Given the description of an element on the screen output the (x, y) to click on. 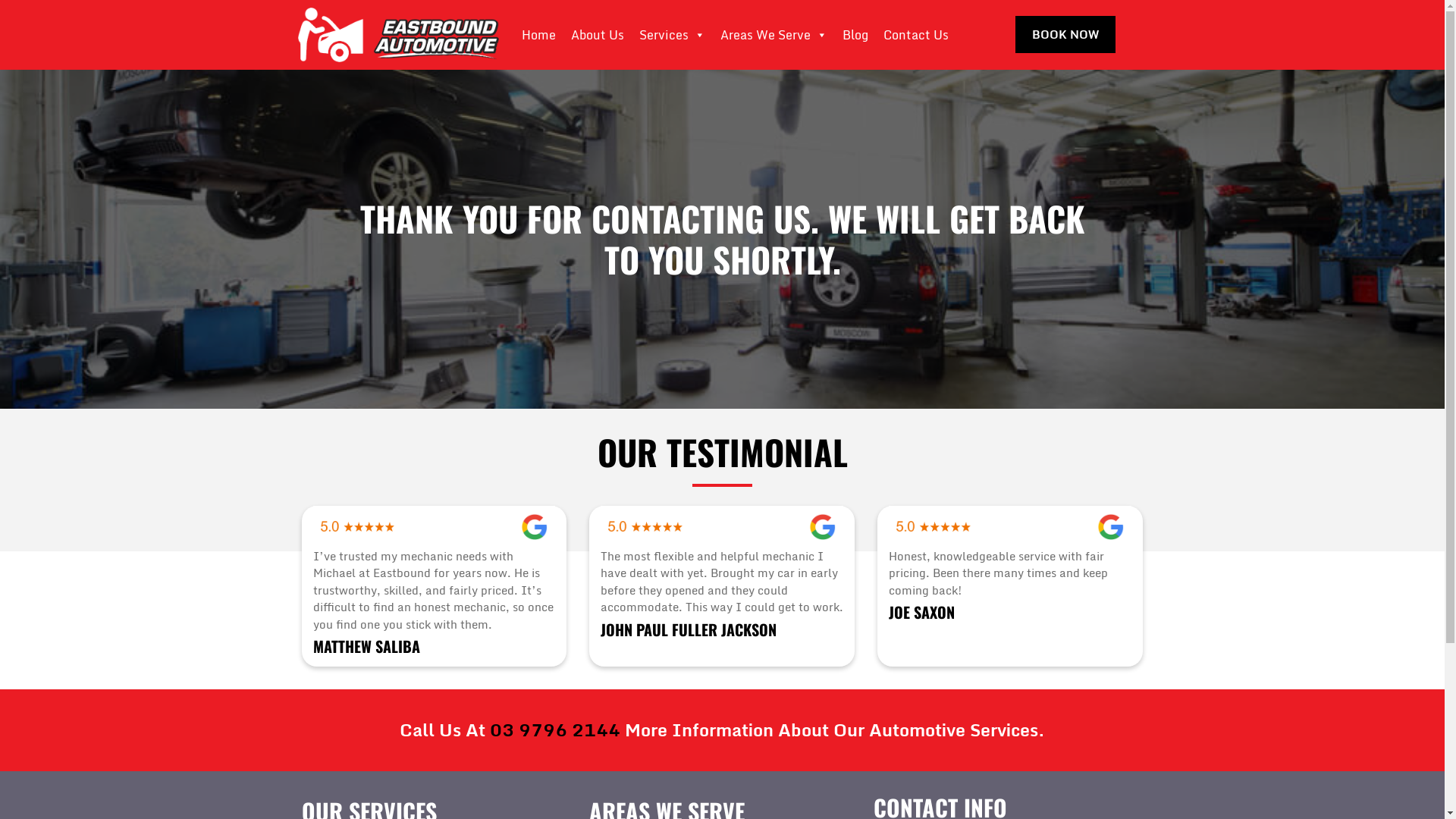
Home Element type: text (538, 34)
About Us Element type: text (596, 34)
Contact Us Element type: text (915, 34)
review-star Element type: hover (645, 525)
Blog Element type: text (854, 34)
BOOK NOW Element type: text (1065, 34)
eastbound-logo Element type: hover (397, 34)
review-star Element type: hover (933, 525)
google-logo Element type: hover (533, 526)
Areas We Serve Element type: text (773, 34)
review-star Element type: hover (357, 525)
google-logo Element type: hover (822, 526)
Services Element type: text (671, 34)
03 9796 2144 Element type: text (554, 729)
google-logo Element type: hover (1110, 526)
